Given the description of an element on the screen output the (x, y) to click on. 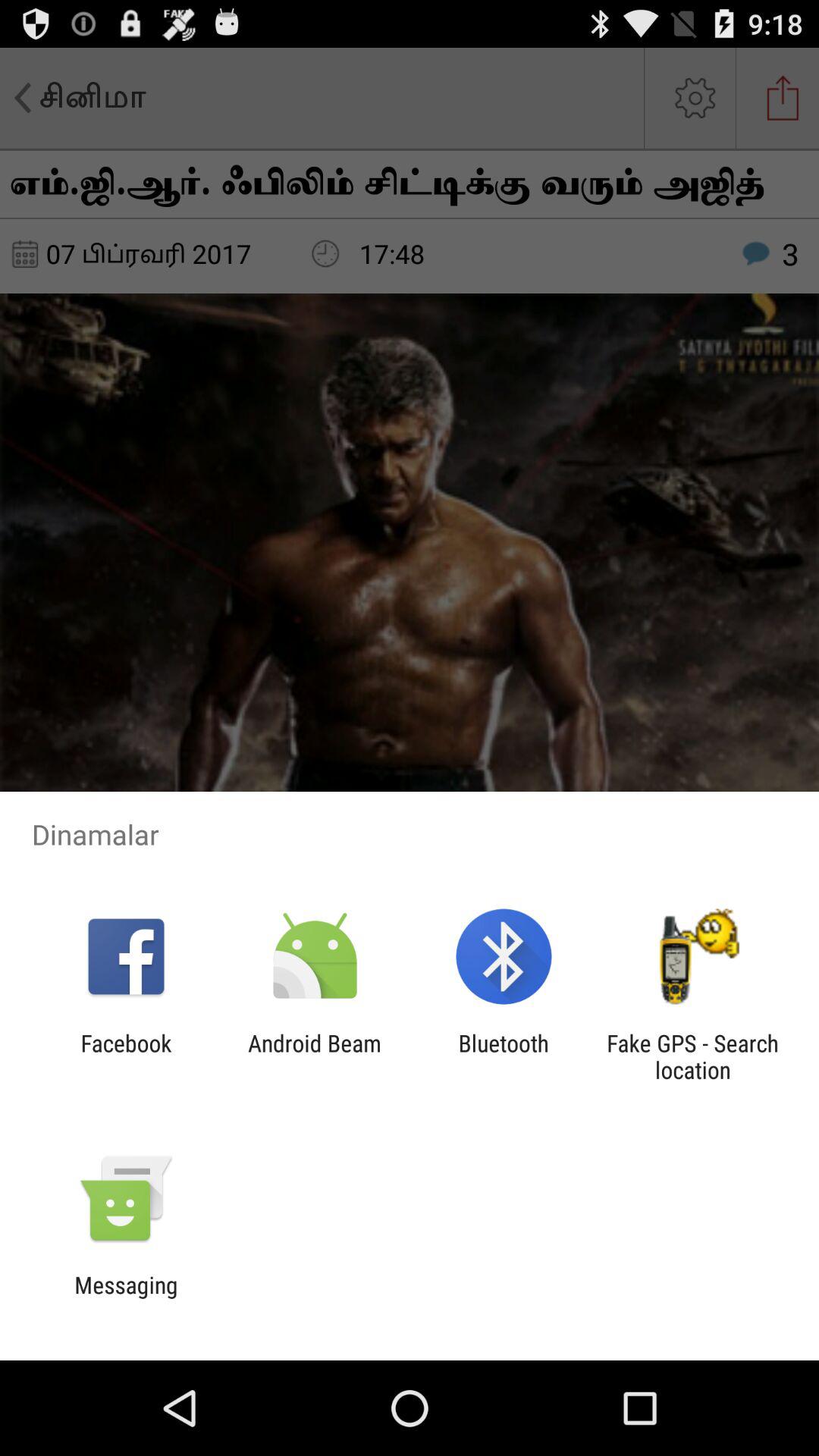
tap the icon next to bluetooth app (314, 1056)
